Given the description of an element on the screen output the (x, y) to click on. 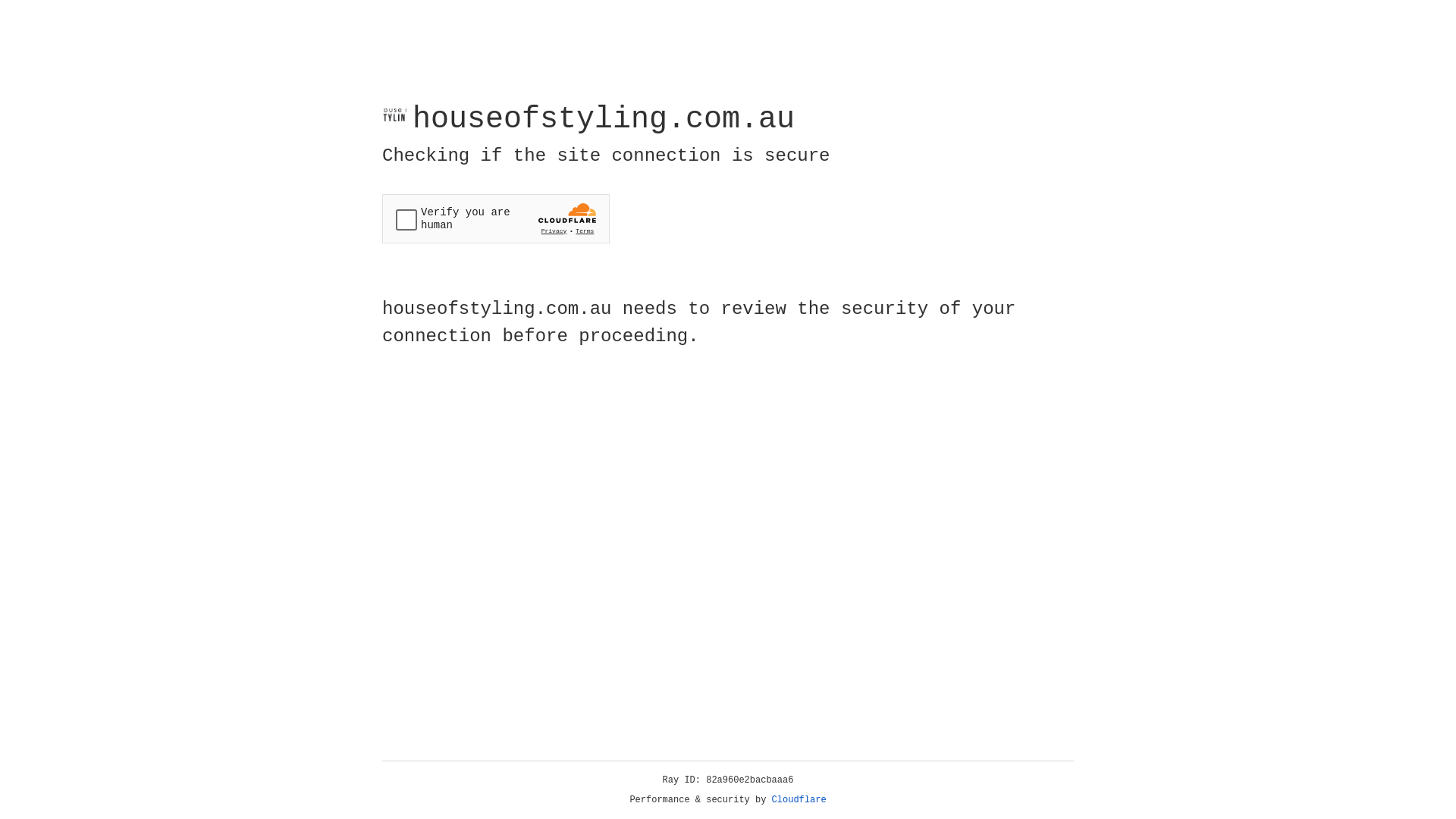
Widget containing a Cloudflare security challenge Element type: hover (495, 218)
Cloudflare Element type: text (798, 799)
